Given the description of an element on the screen output the (x, y) to click on. 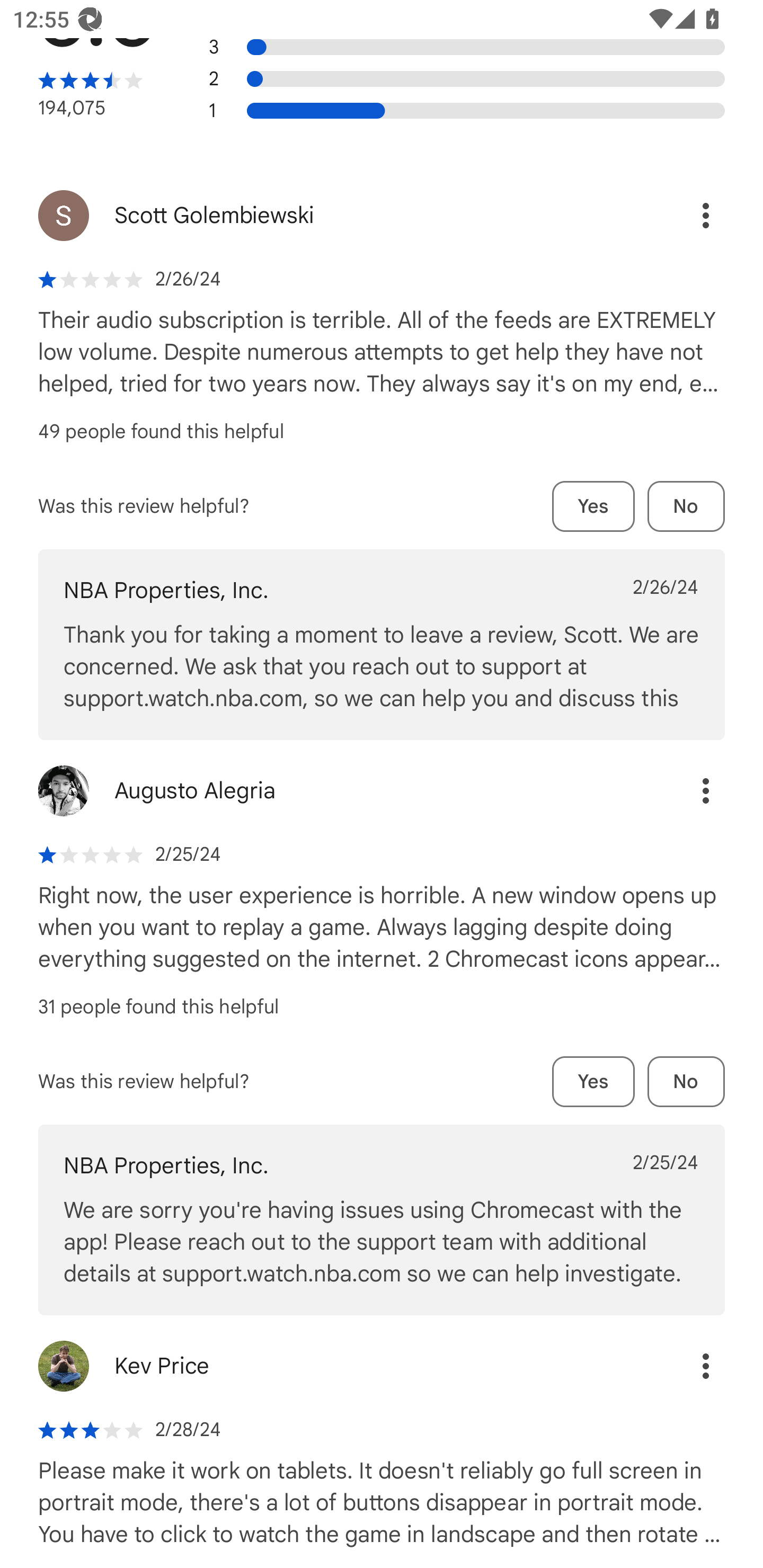
Options (686, 215)
Yes (593, 506)
No (685, 506)
Options (686, 790)
Yes (593, 1081)
No (685, 1081)
Options (686, 1366)
